Given the description of an element on the screen output the (x, y) to click on. 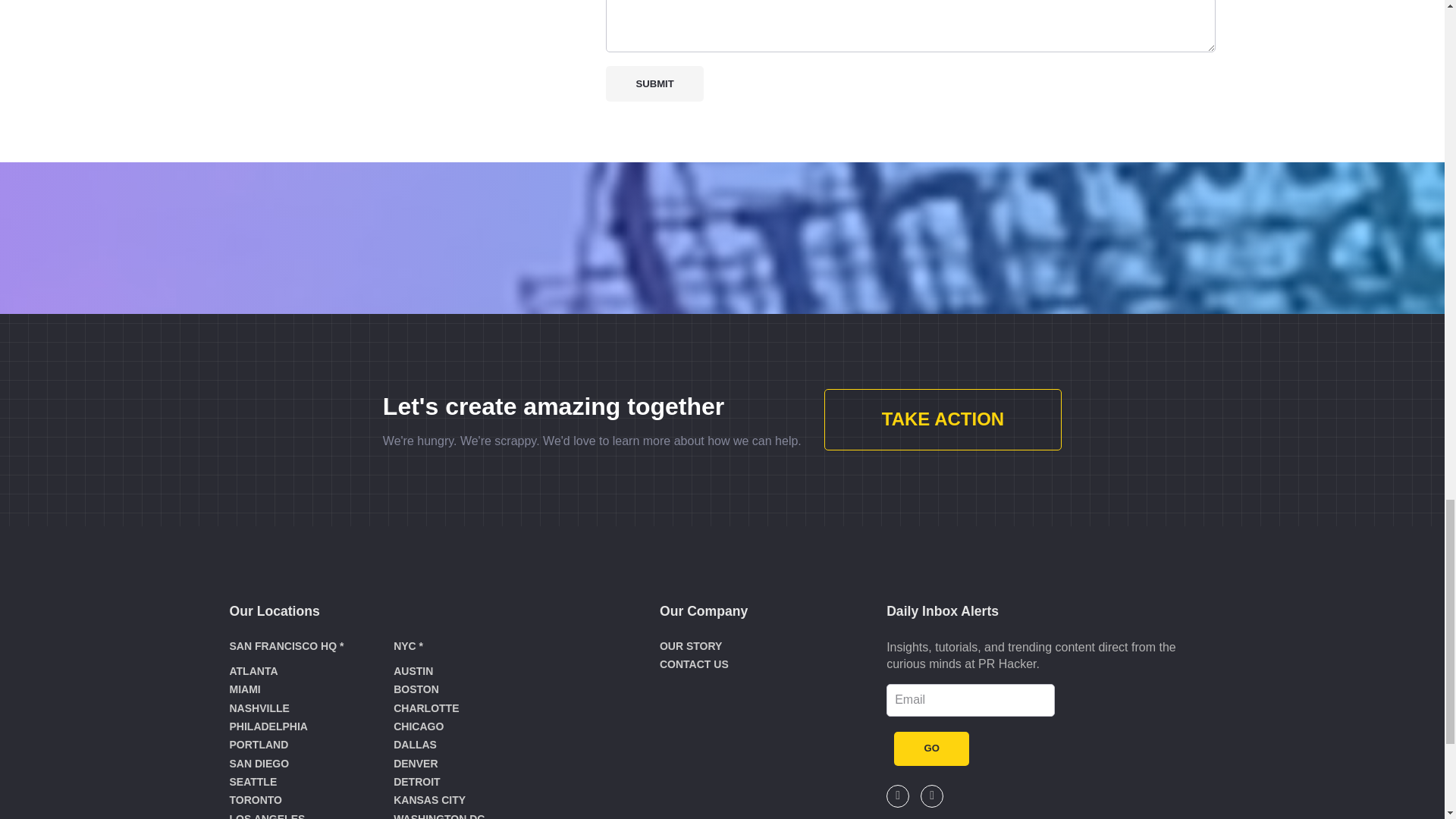
SUBMIT (654, 83)
TAKE ACTION (942, 419)
ATLANTA (253, 671)
MIAMI (244, 689)
AUSTIN (412, 671)
BOSTON (416, 689)
TAKE ACTION (942, 420)
